Given the description of an element on the screen output the (x, y) to click on. 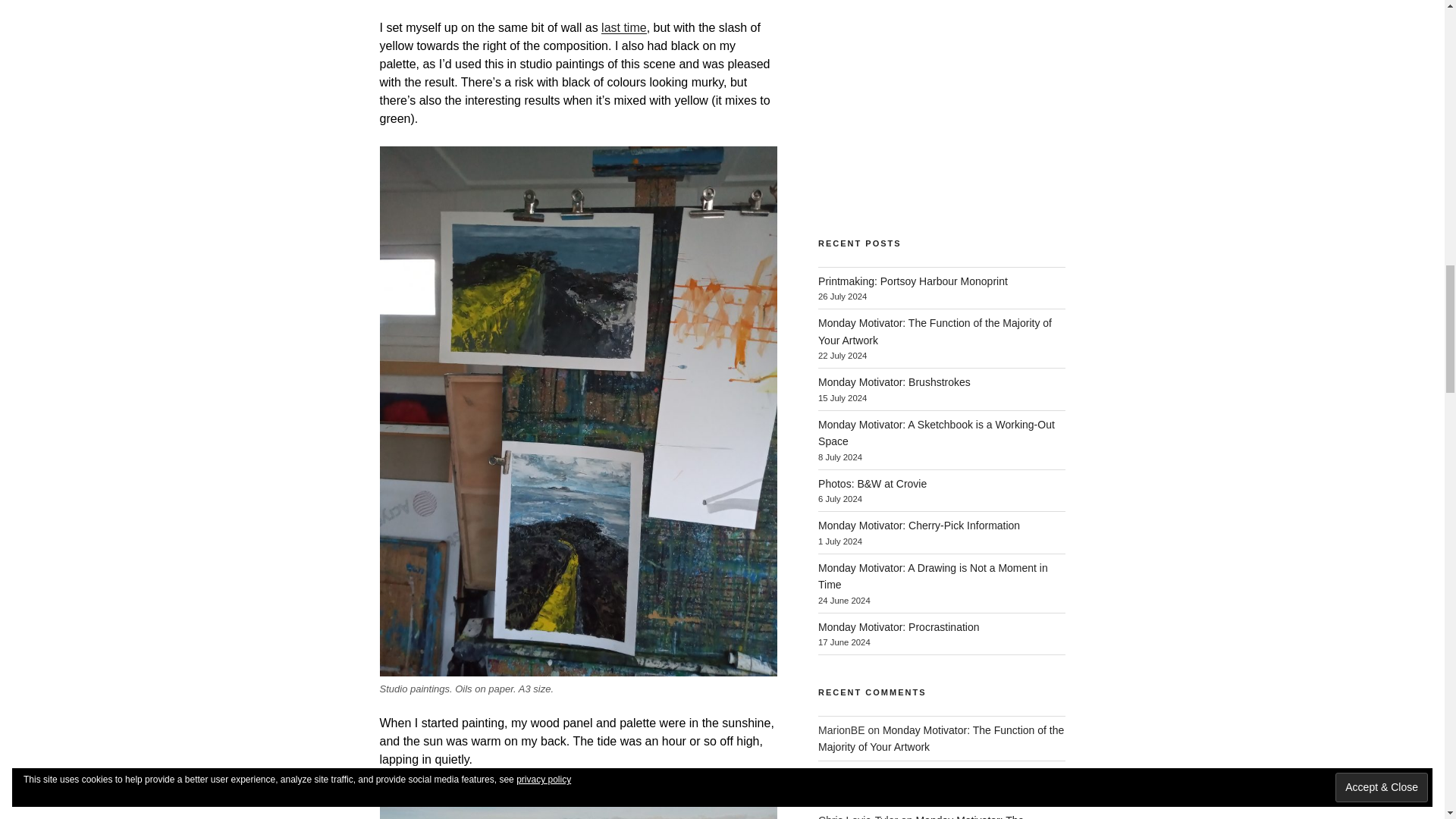
VideoPress Video Player (941, 105)
